Given the description of an element on the screen output the (x, y) to click on. 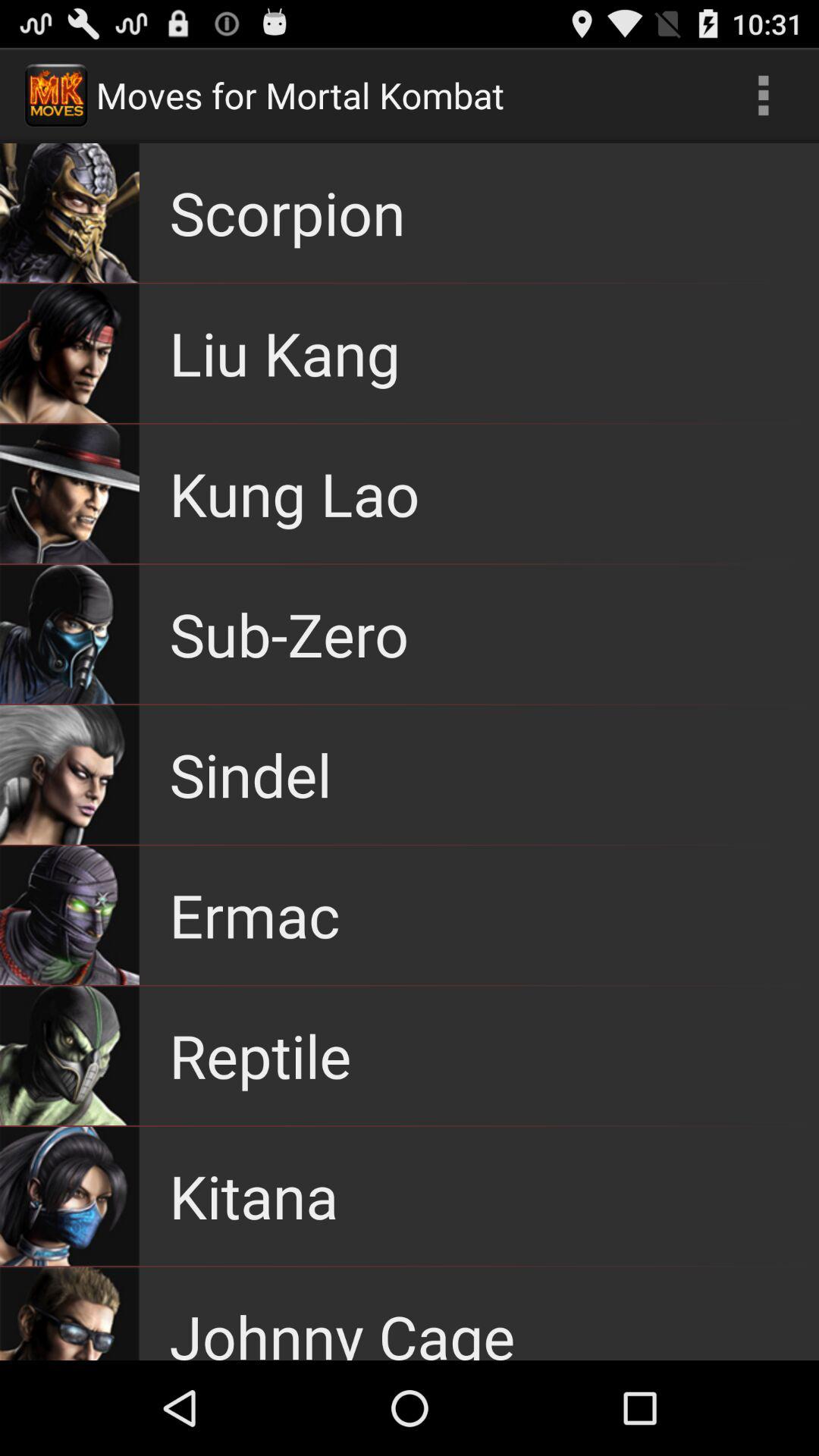
launch the icon at the bottom (342, 1328)
